Given the description of an element on the screen output the (x, y) to click on. 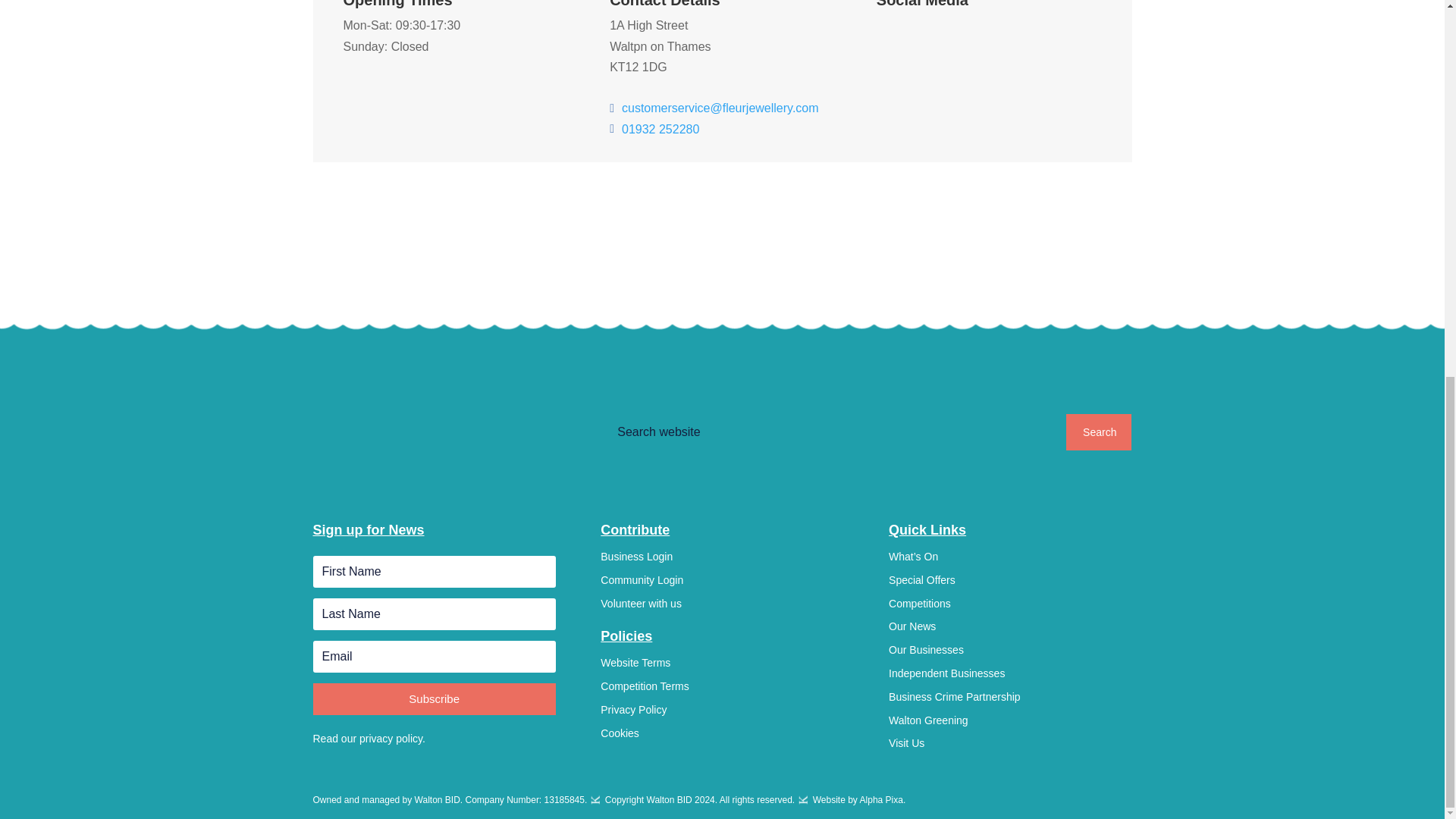
privacy policy (390, 738)
Alpha Pixa. (882, 799)
Search (1098, 432)
Search (1098, 432)
Subscribe (433, 698)
01932 252280 (659, 128)
Search (1098, 432)
